Given the description of an element on the screen output the (x, y) to click on. 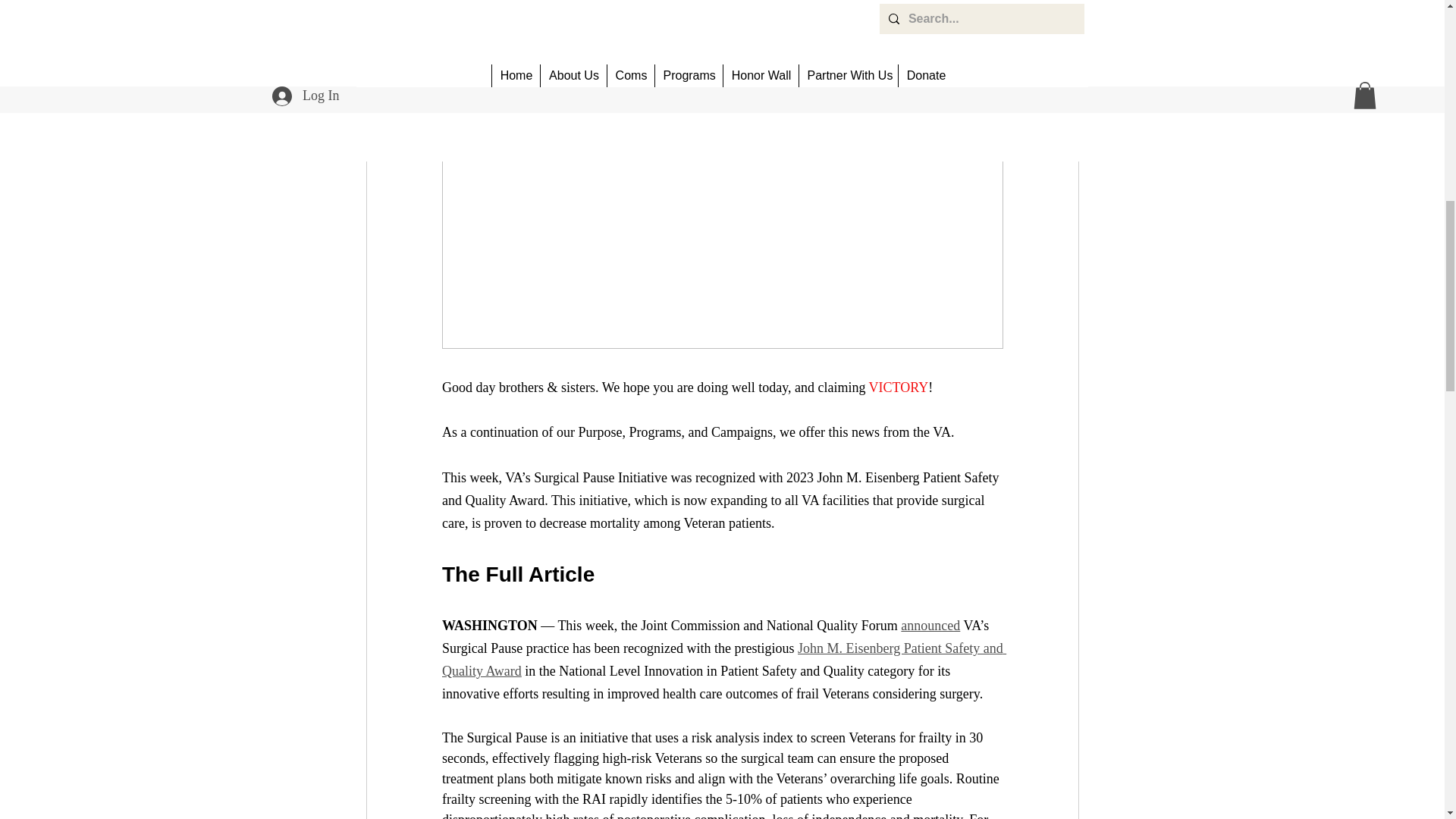
John M. Eisenberg Patient Safety and Quality Award (723, 659)
announced (930, 625)
